Given the description of an element on the screen output the (x, y) to click on. 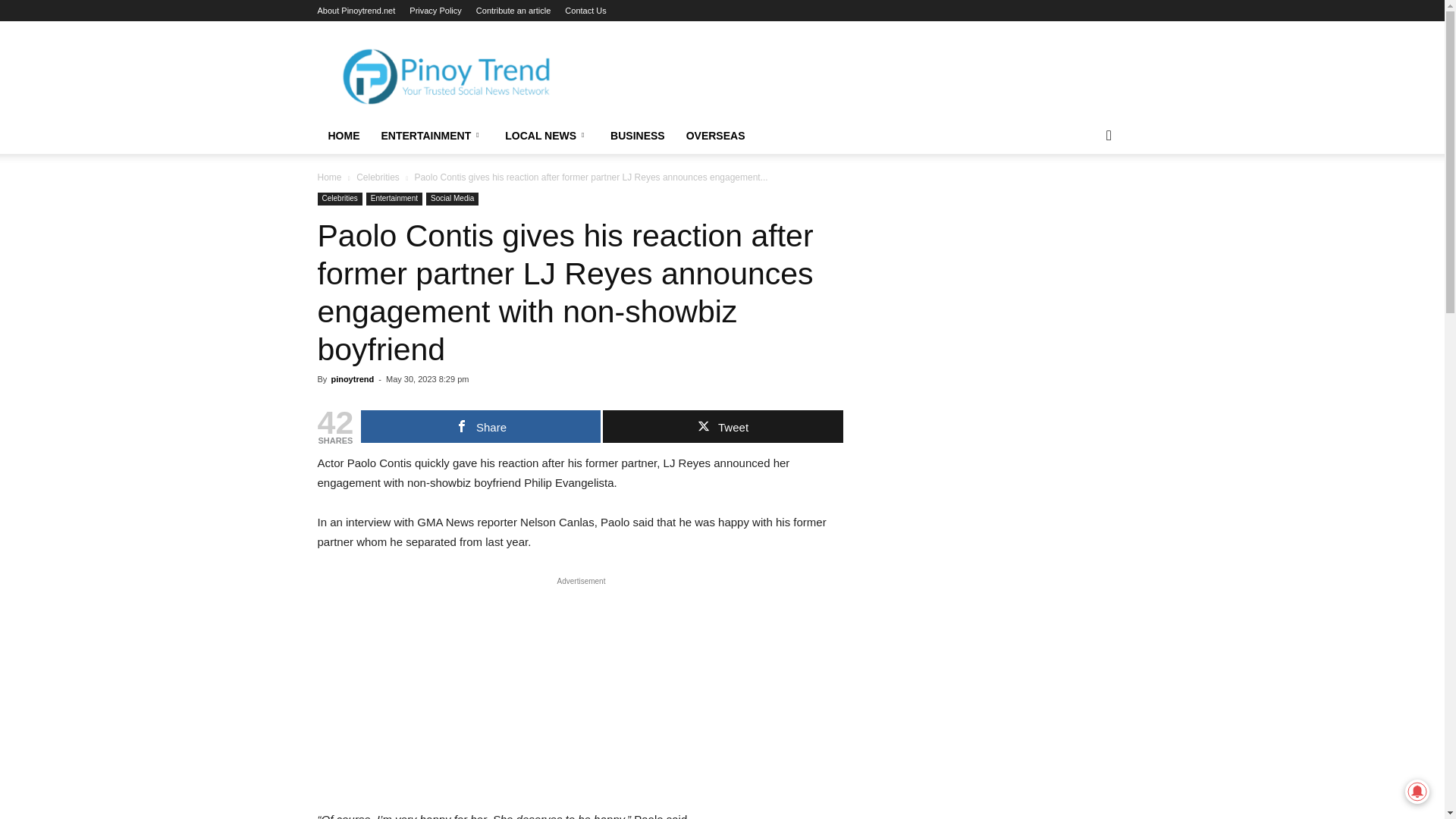
Social Media (452, 198)
Advertisement (580, 697)
pinoytrend (352, 379)
Home (328, 176)
Celebrities (377, 176)
Privacy Policy (435, 10)
HOME (343, 135)
Search (1085, 196)
Contact Us (584, 10)
View all posts in Celebrities (377, 176)
